Given the description of an element on the screen output the (x, y) to click on. 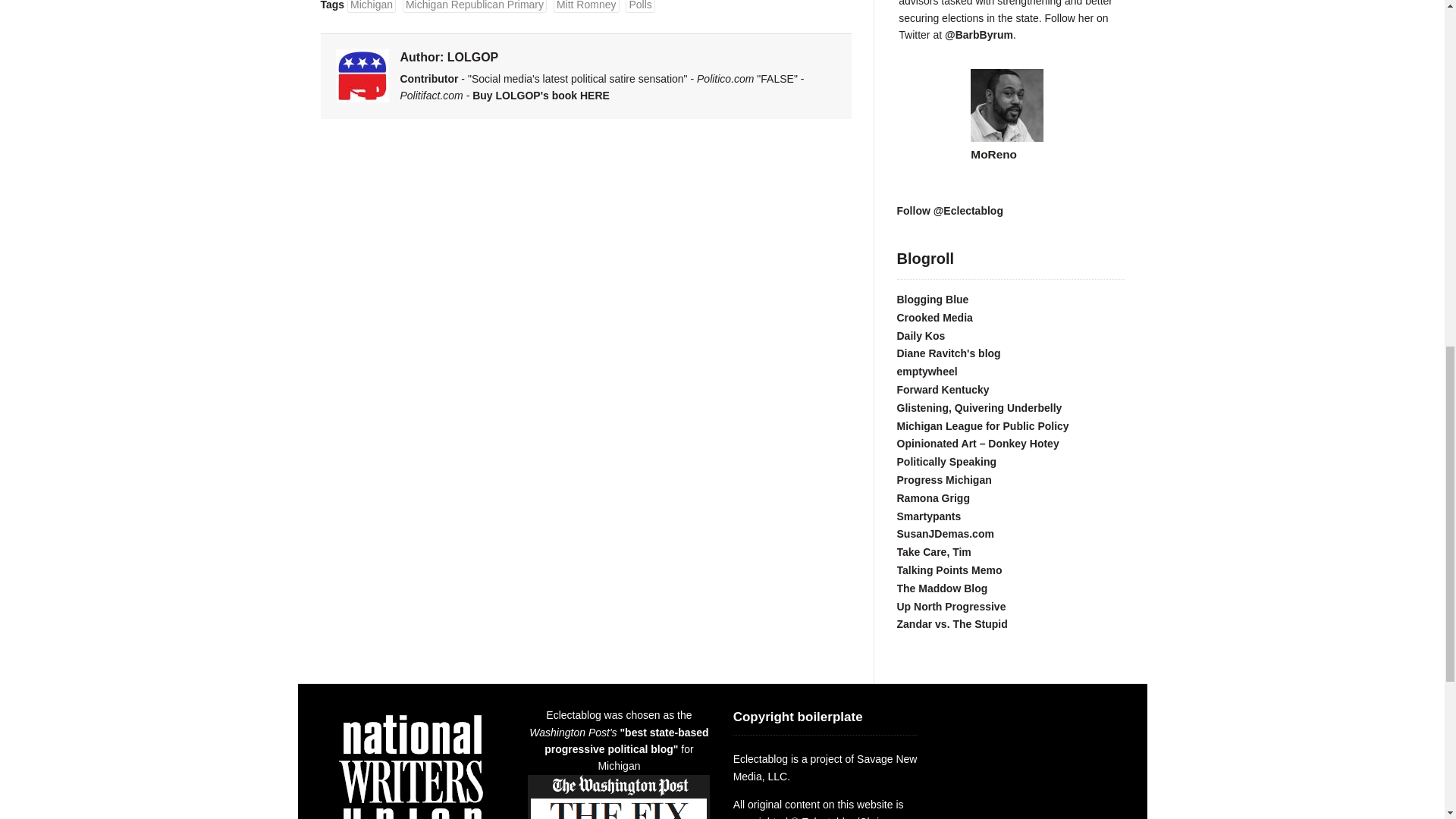
Polls (639, 6)
Michigan Republican Primary (475, 6)
Michigan (371, 6)
Posts by LOLGOP (472, 56)
LOLGOP (472, 56)
Pod will save everything (934, 317)
The progressive voice for Kentucky politics (942, 389)
Politico.com (725, 78)
Politifact.com (431, 95)
Mitt Romney (586, 6)
Blogging liberally in the Badger State (932, 299)
HERE (594, 95)
